Given the description of an element on the screen output the (x, y) to click on. 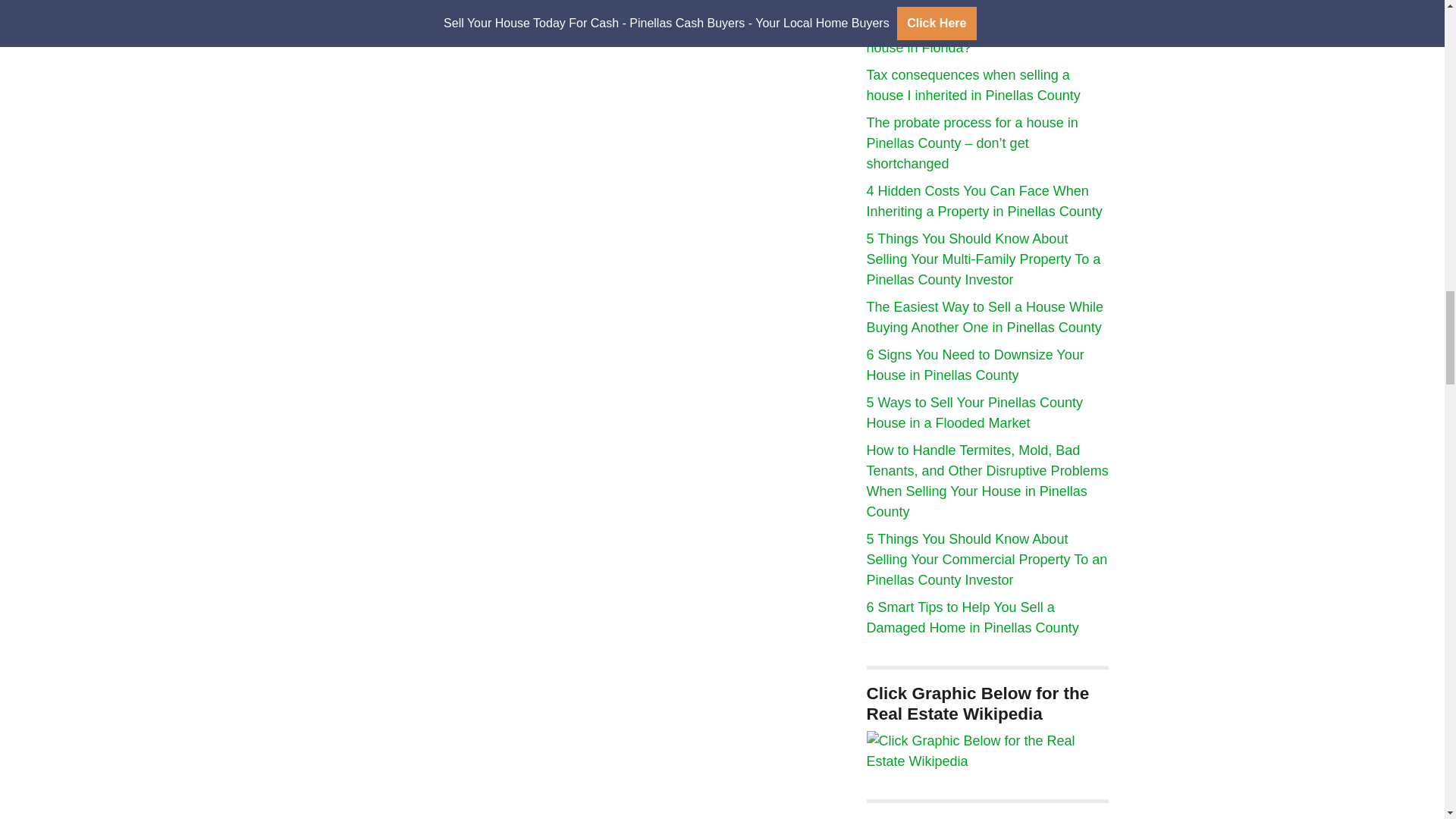
Click Graphic Below for the Real Estate Wikipedia (987, 750)
